Given the description of an element on the screen output the (x, y) to click on. 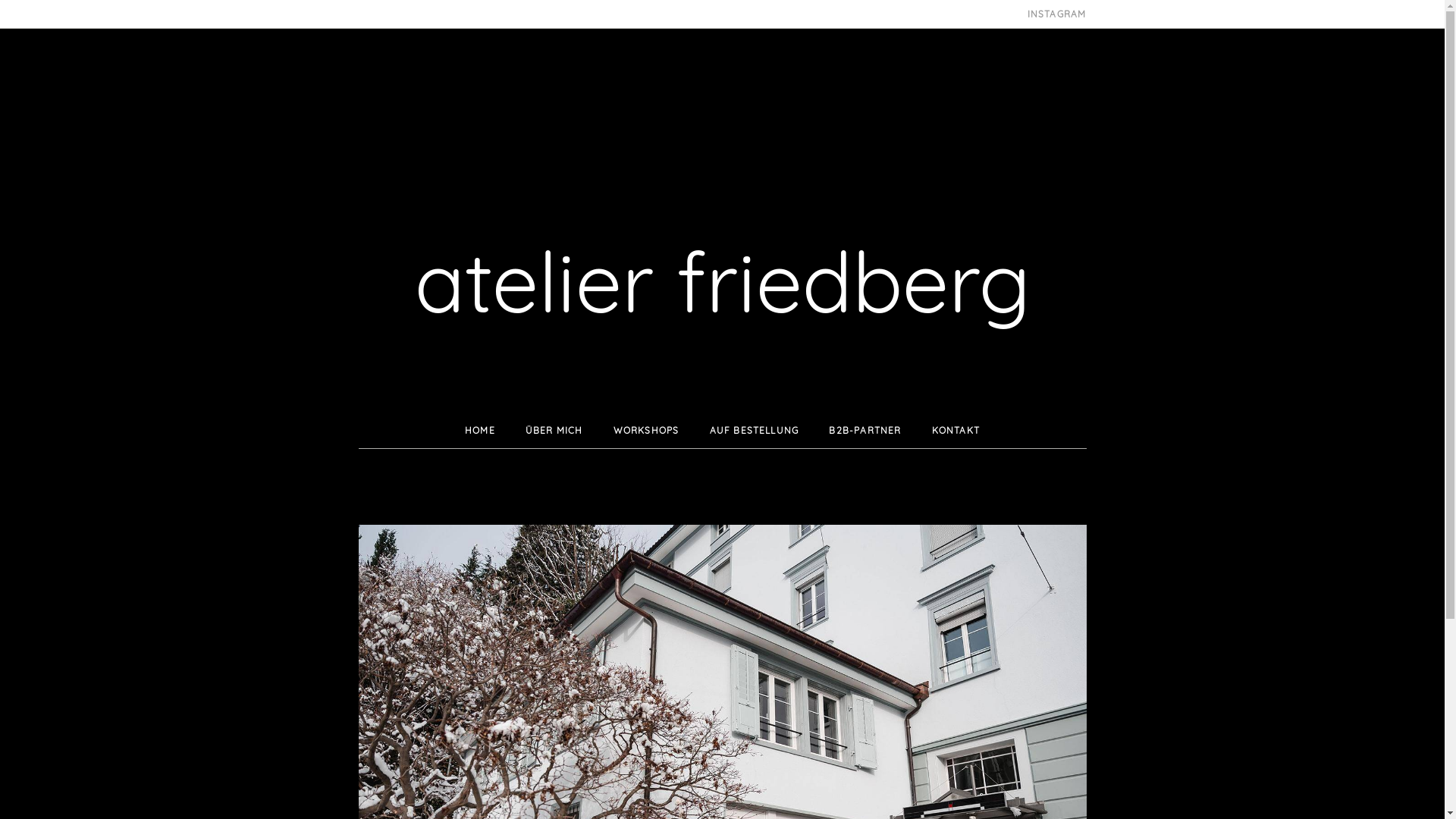
AUF BESTELLUNG Element type: text (754, 428)
WORKSHOPS Element type: text (646, 428)
HOME Element type: text (479, 428)
KONTAKT Element type: text (955, 428)
B2B-PARTNER Element type: text (864, 428)
INSTAGRAM Element type: text (1052, 13)
